Given the description of an element on the screen output the (x, y) to click on. 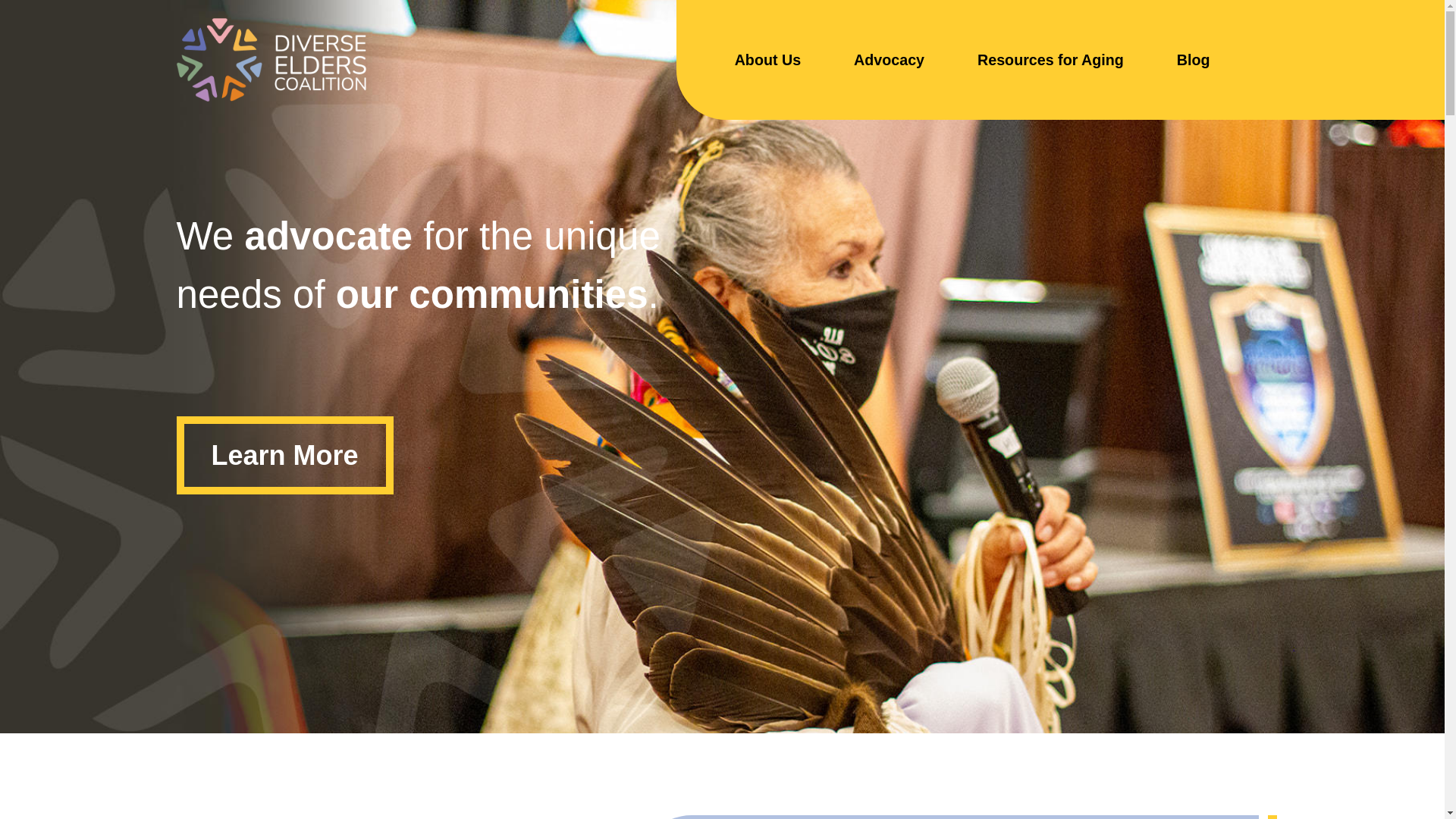
Resources for Aging (1050, 59)
About Us (767, 59)
Learn More (284, 455)
Blog (1192, 59)
Advocacy (888, 59)
